Given the description of an element on the screen output the (x, y) to click on. 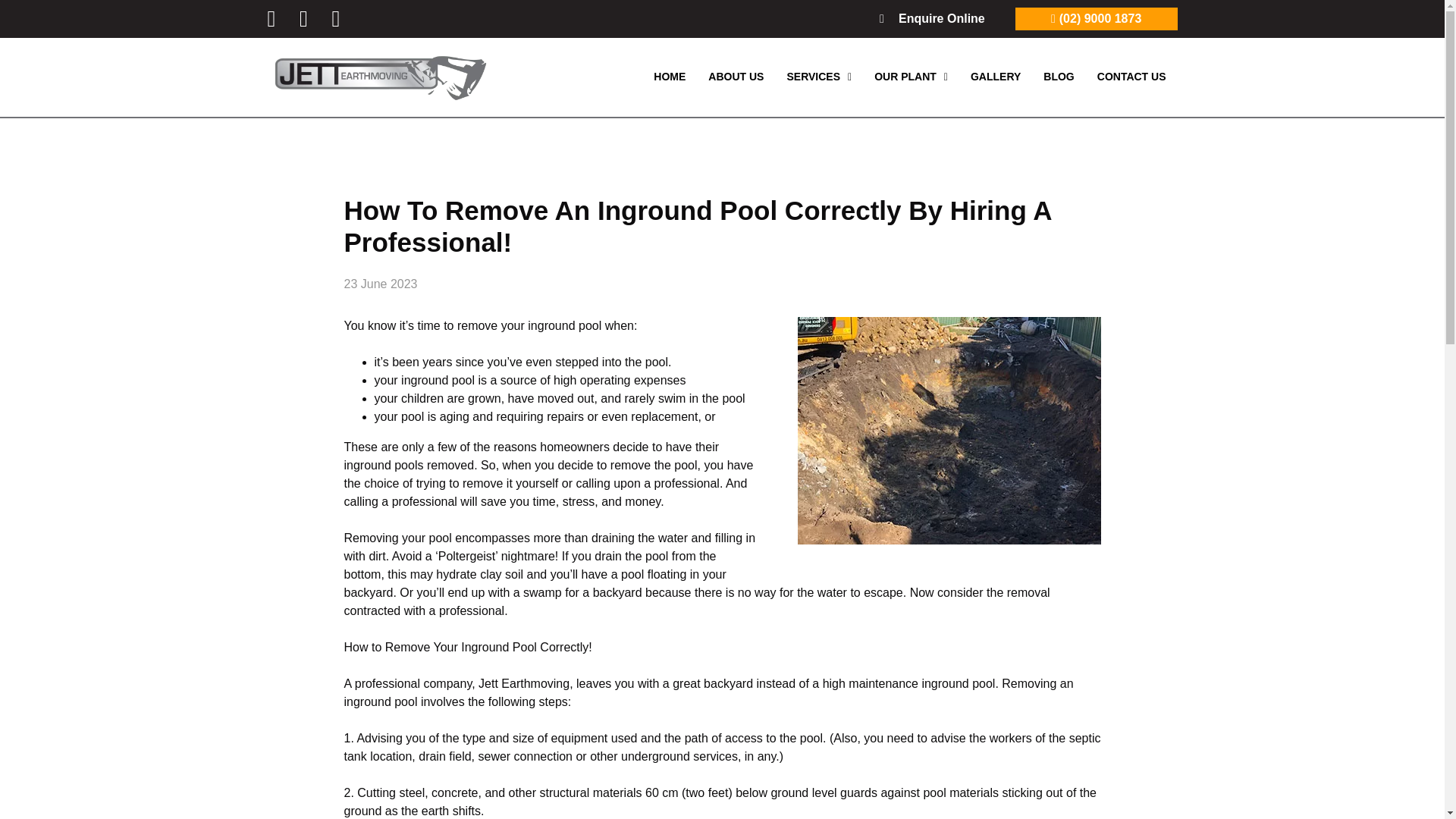
BLOG (1058, 76)
CONTACT US (1131, 76)
ABOUT US (735, 76)
GALLERY (995, 76)
HOME (669, 76)
SERVICES (818, 76)
Enquire Online (932, 18)
OUR PLANT (911, 76)
